Given the description of an element on the screen output the (x, y) to click on. 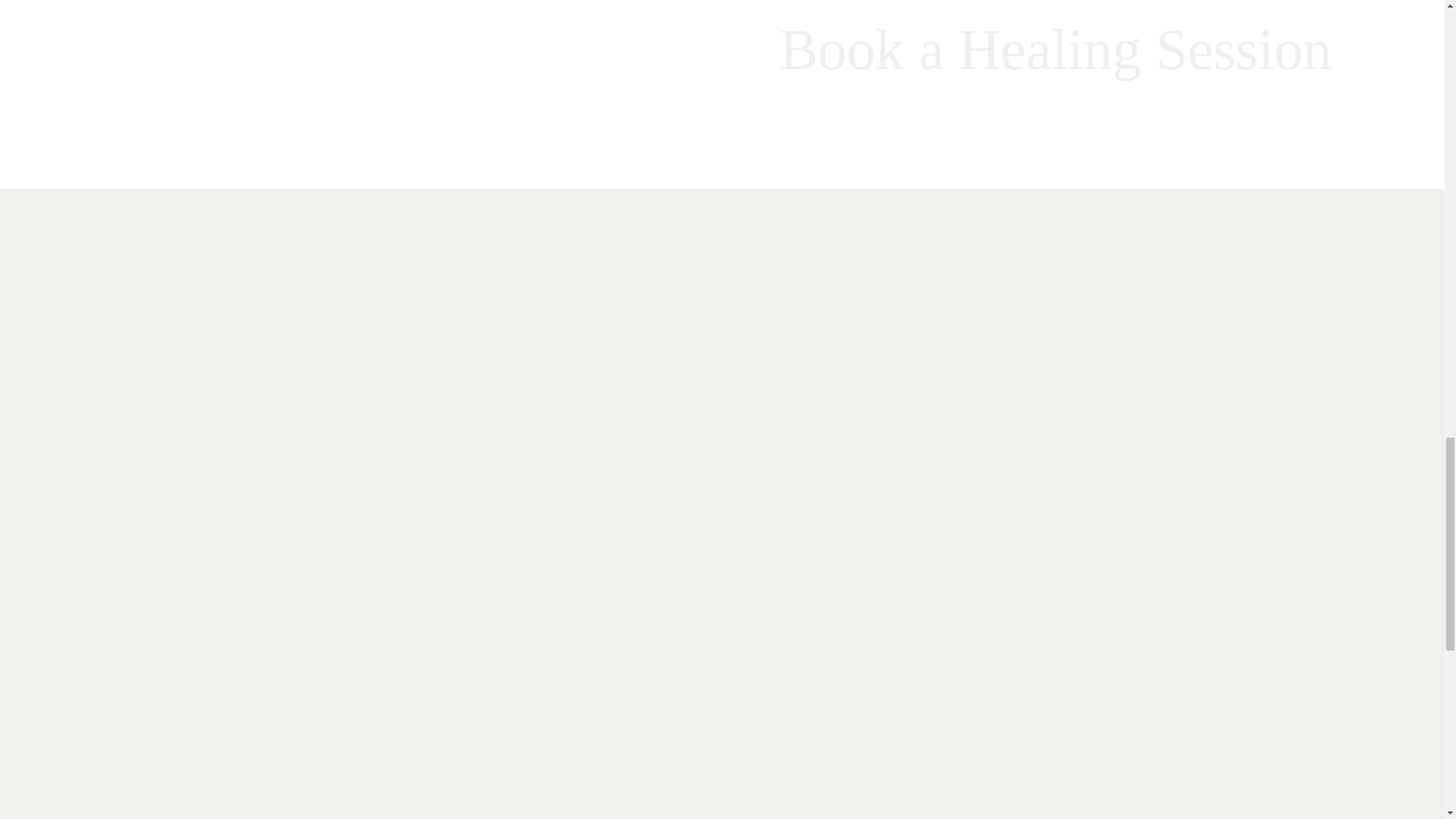
Book (1249, 123)
